Given the description of an element on the screen output the (x, y) to click on. 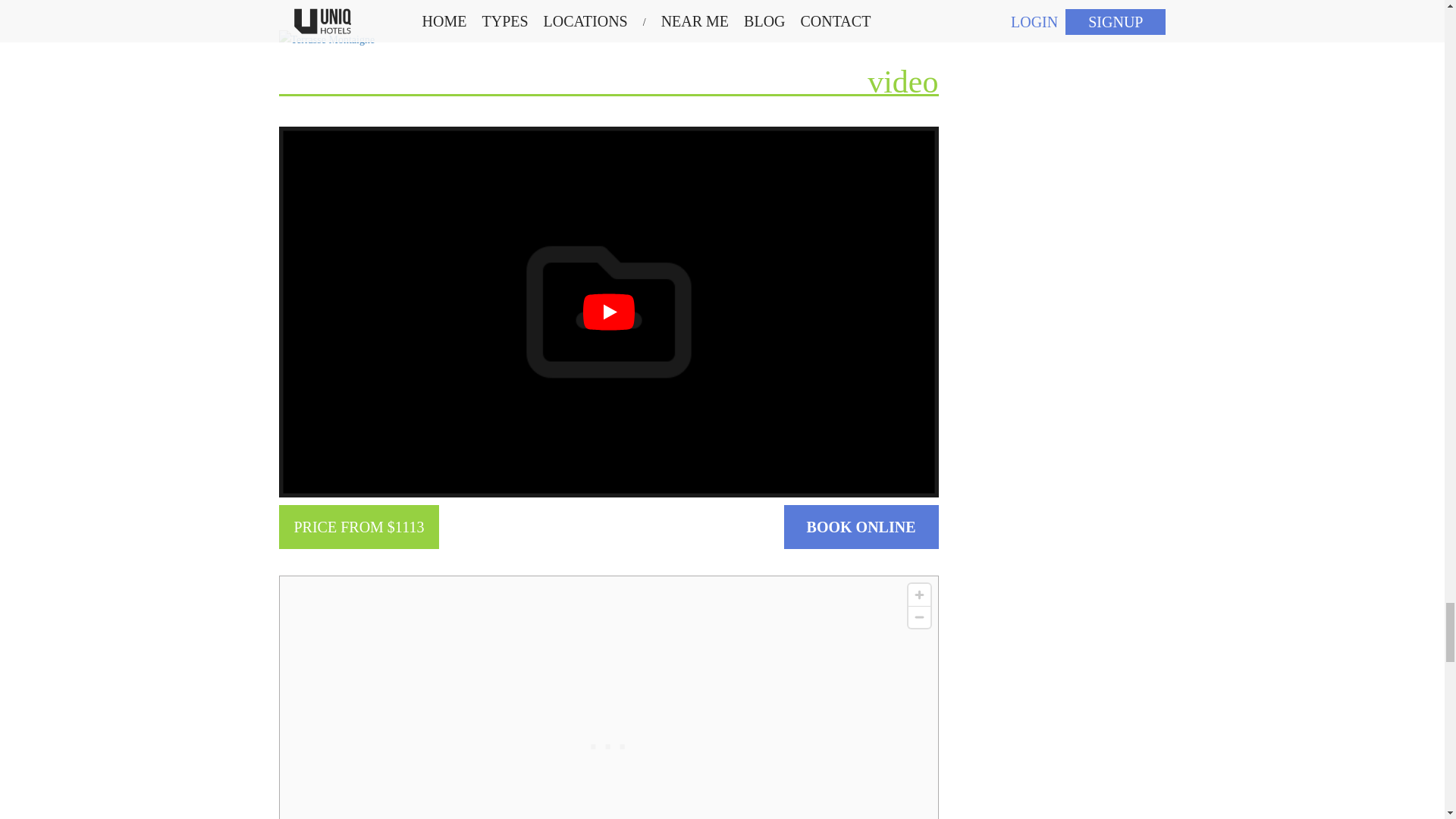
Zoom out (919, 617)
Zoom in (919, 594)
